Given the description of an element on the screen output the (x, y) to click on. 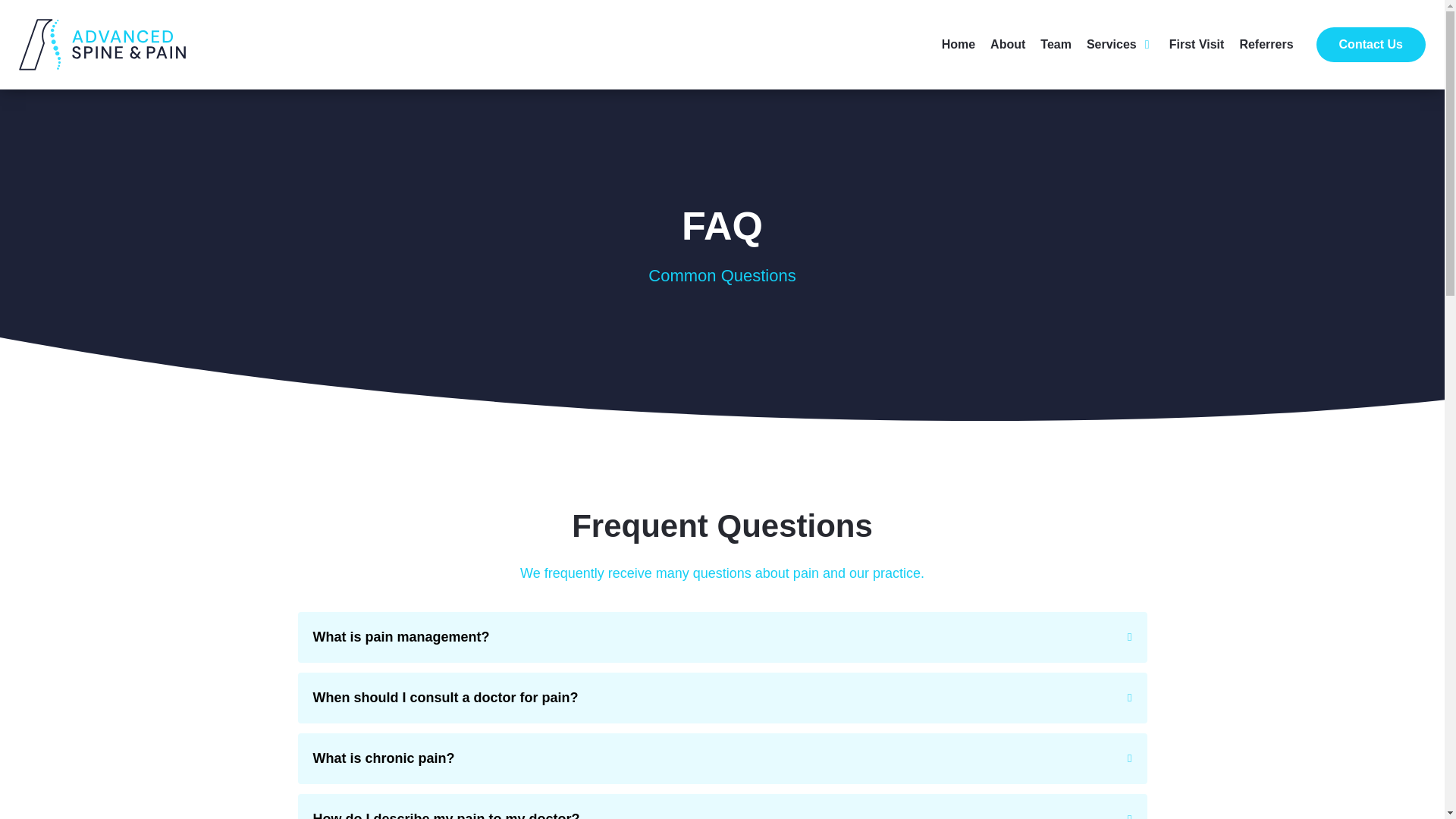
First Visit (1196, 45)
About (1007, 45)
Team (1056, 45)
Services (1111, 45)
Home (958, 45)
Referrers (1265, 45)
Contact Us (1370, 44)
